Given the description of an element on the screen output the (x, y) to click on. 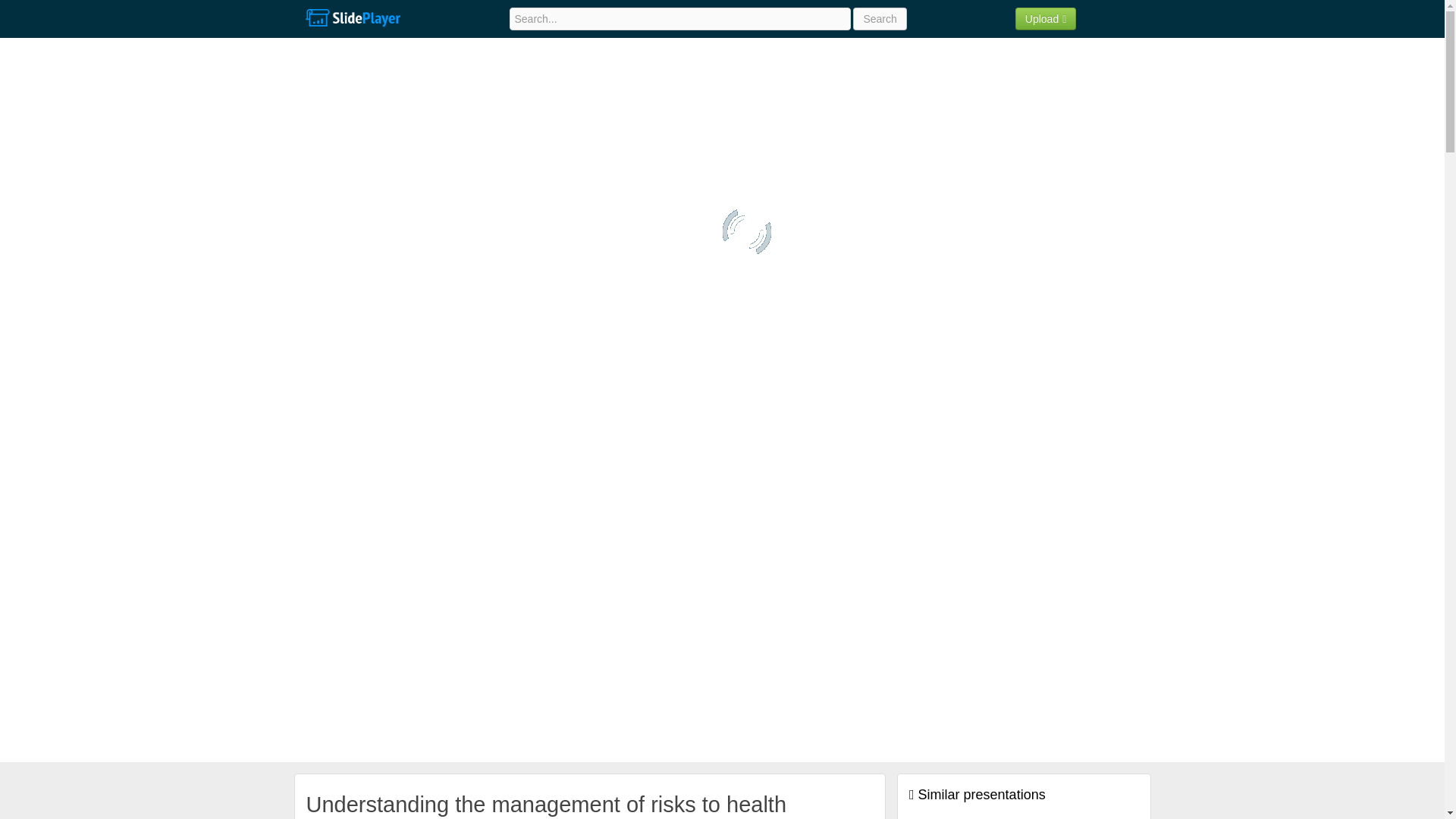
Presentation is loading. Please wait. (746, 232)
Upload (1045, 18)
Search (879, 18)
SlidePlayer (352, 18)
